Given the description of an element on the screen output the (x, y) to click on. 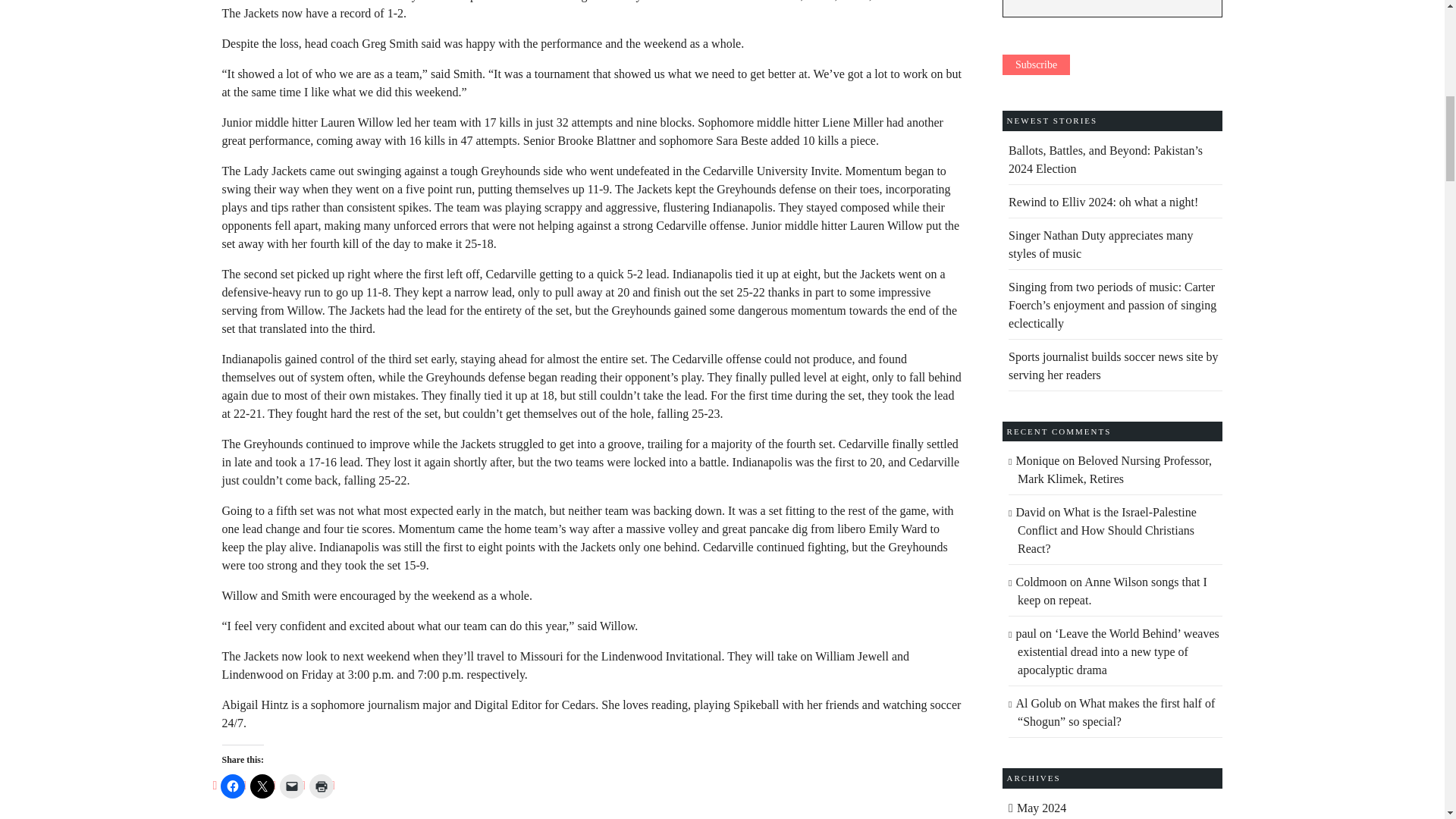
Click to print (320, 785)
Click to share on Facebook (232, 785)
Subscribe (1036, 64)
Click to share on X (262, 785)
Click to email a link to a friend (291, 785)
